Given the description of an element on the screen output the (x, y) to click on. 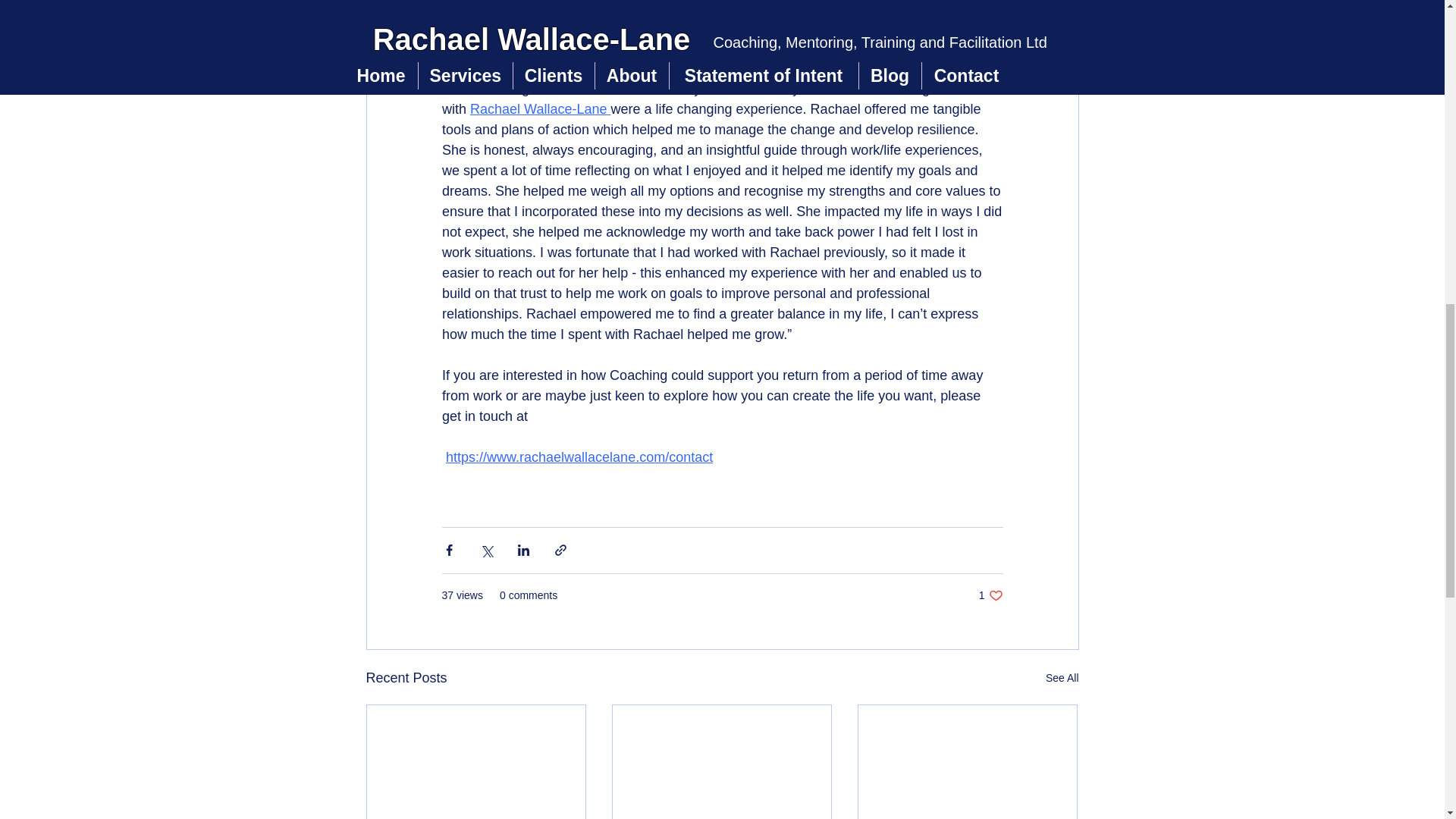
See All (1061, 678)
Rachael Wallace-Lane  (990, 595)
Seana McCauley (540, 109)
